Given the description of an element on the screen output the (x, y) to click on. 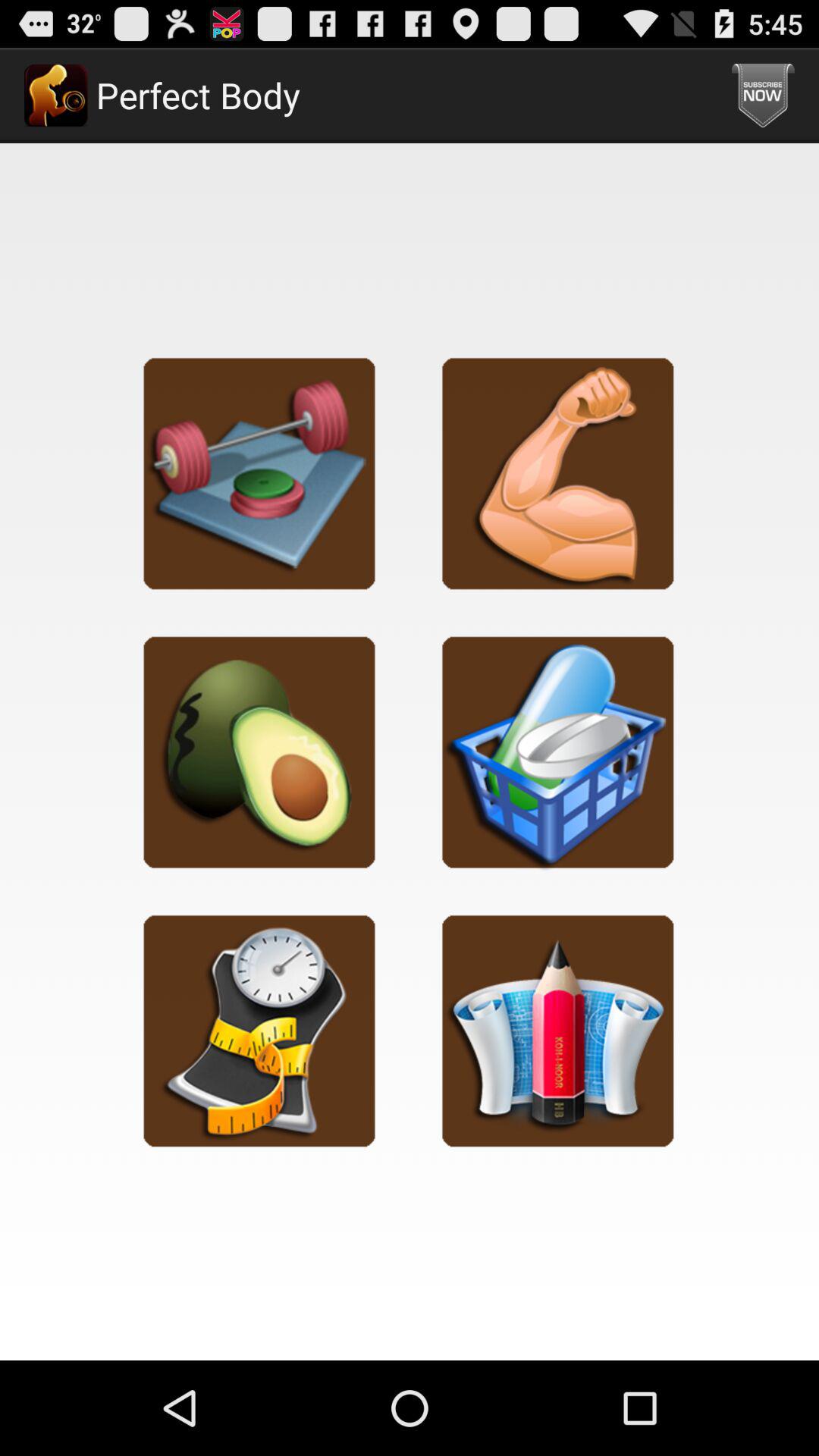
track workout (259, 472)
